Given the description of an element on the screen output the (x, y) to click on. 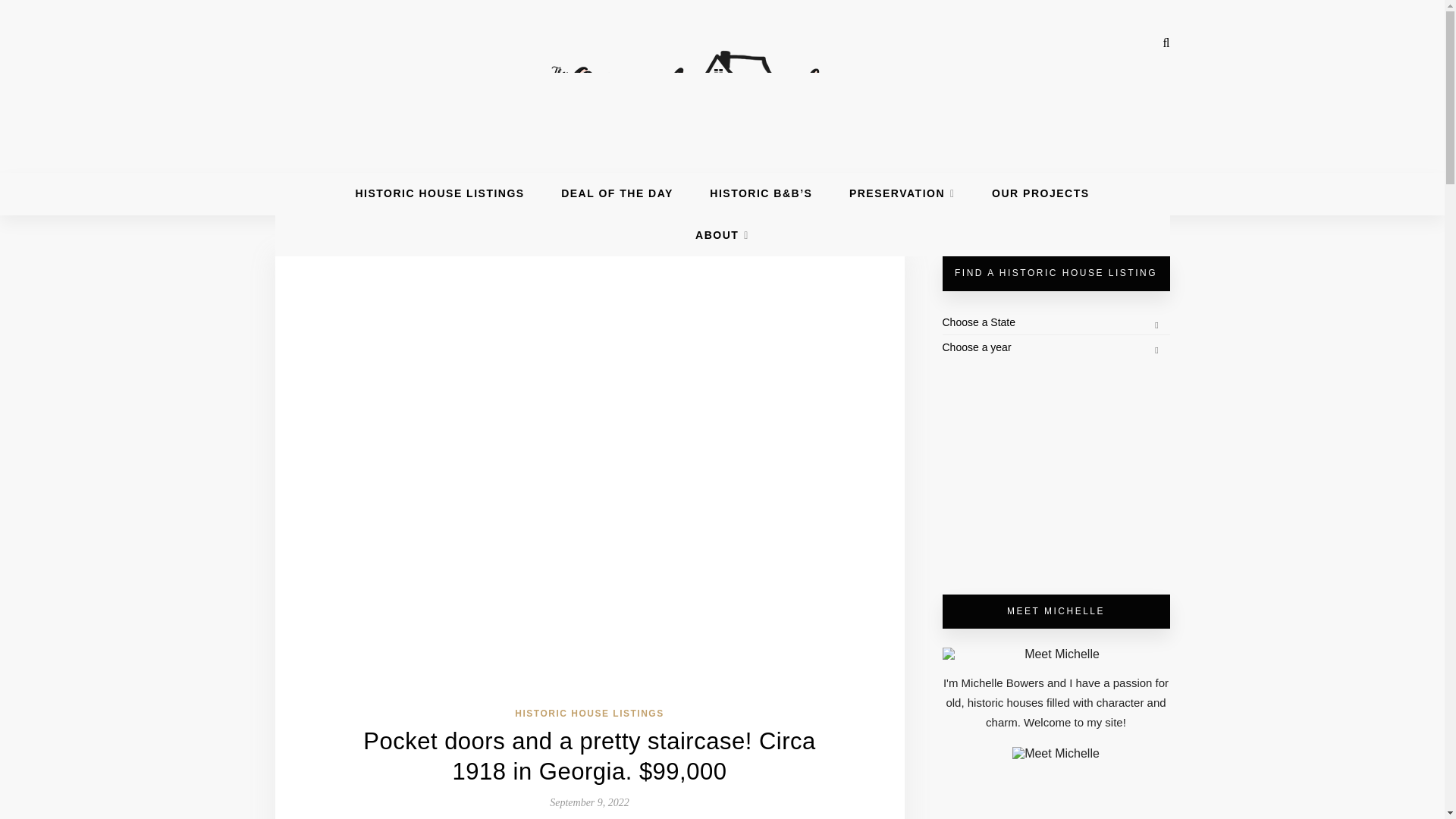
September 9, 2022 (589, 802)
OUR PROJECTS (1040, 192)
PRESERVATION (901, 193)
HISTORIC HOUSE LISTINGS (439, 192)
ABOUT (722, 235)
HISTORIC HOUSE LISTINGS (589, 713)
DEAL OF THE DAY (616, 192)
